Given the description of an element on the screen output the (x, y) to click on. 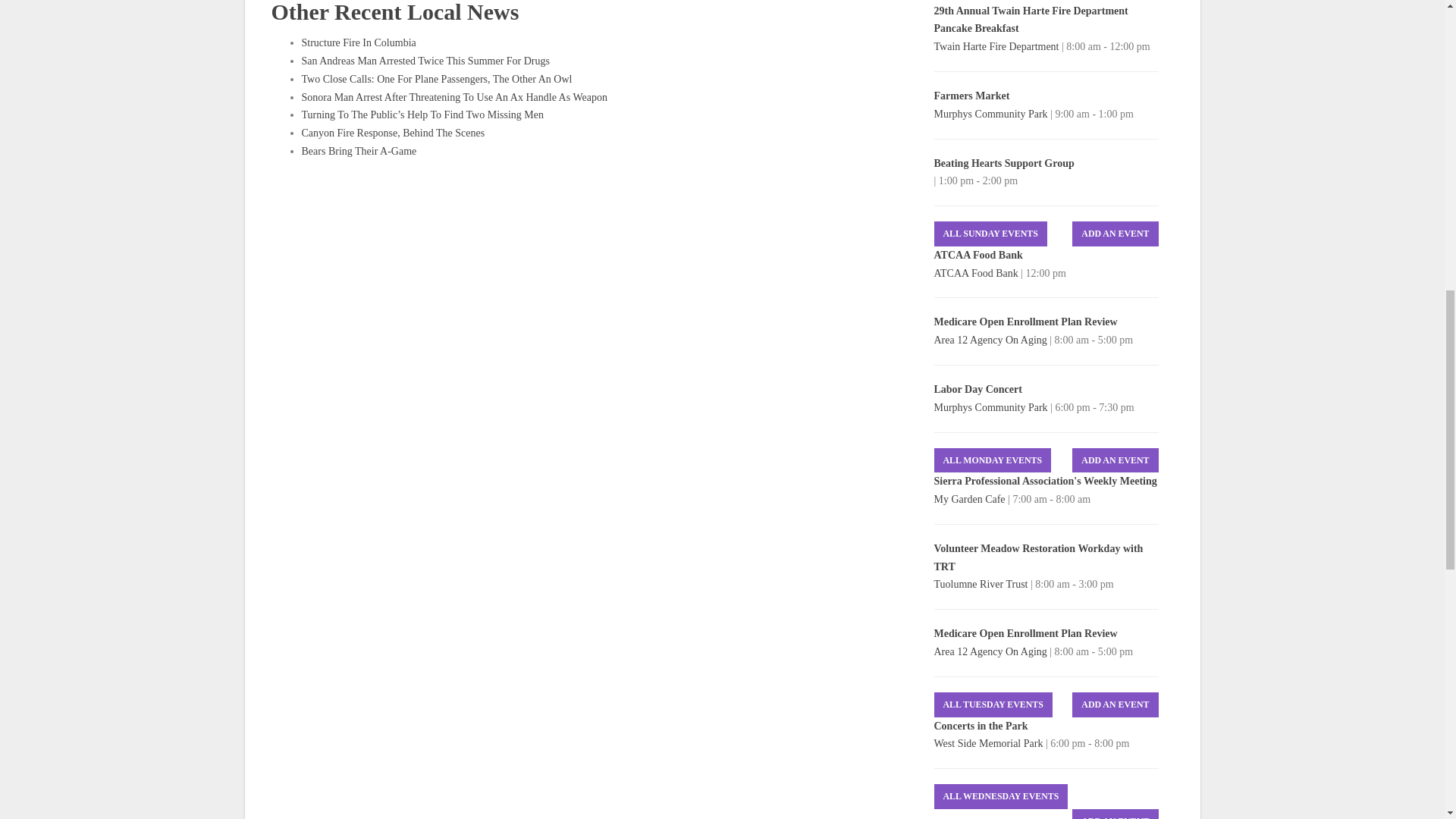
All Monday Events (992, 460)
All Sunday Events (990, 233)
Add An Event (1114, 704)
All Wednesday Events (1001, 796)
Add An Event (1114, 233)
Add An Event (1114, 814)
All Tuesday Events (993, 704)
Add An Event (1114, 460)
